Given the description of an element on the screen output the (x, y) to click on. 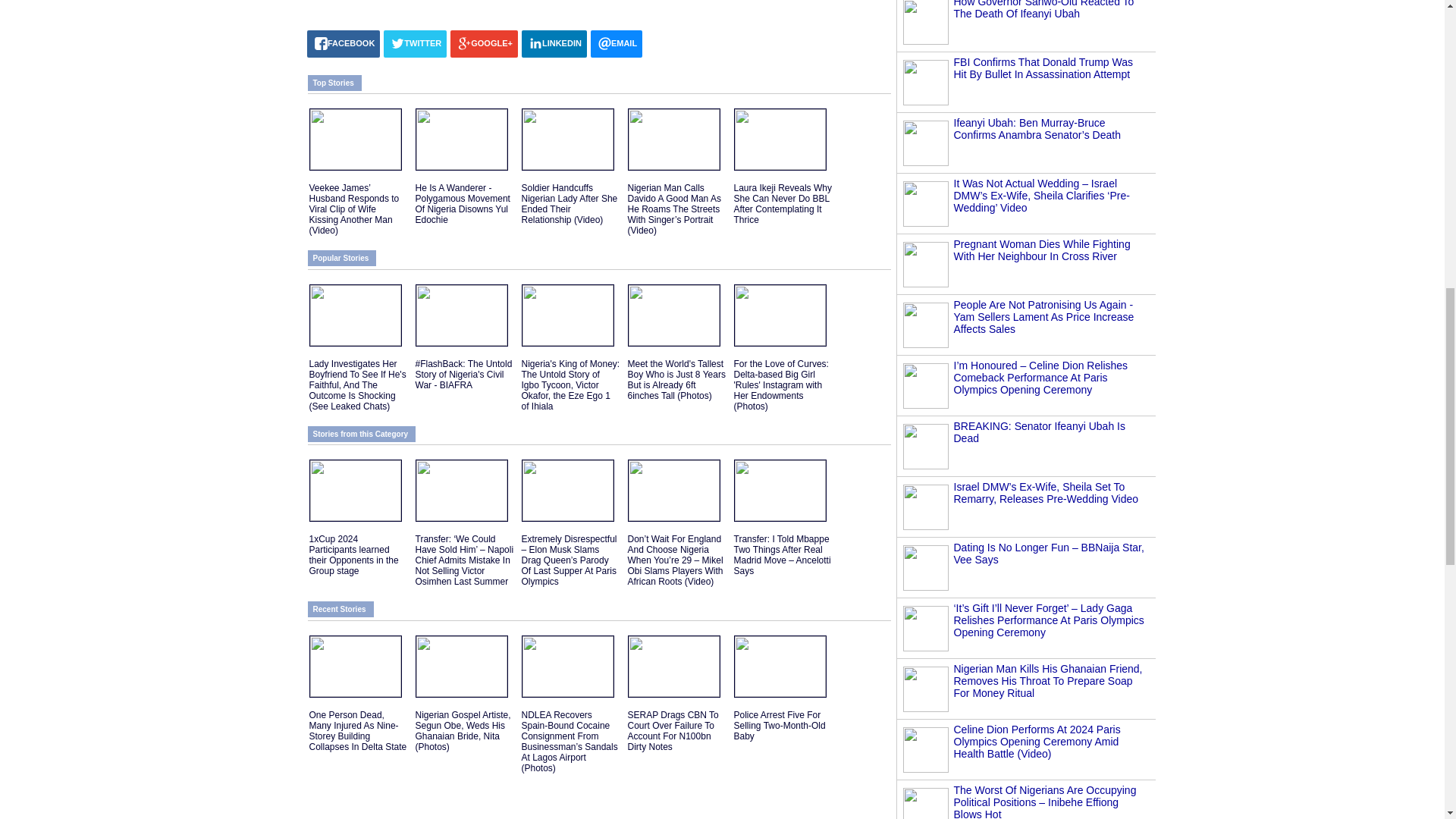
How Governor Sanwo-Olu Reacted To The Death Of Ifeanyi Ubah (1043, 9)
